Given the description of an element on the screen output the (x, y) to click on. 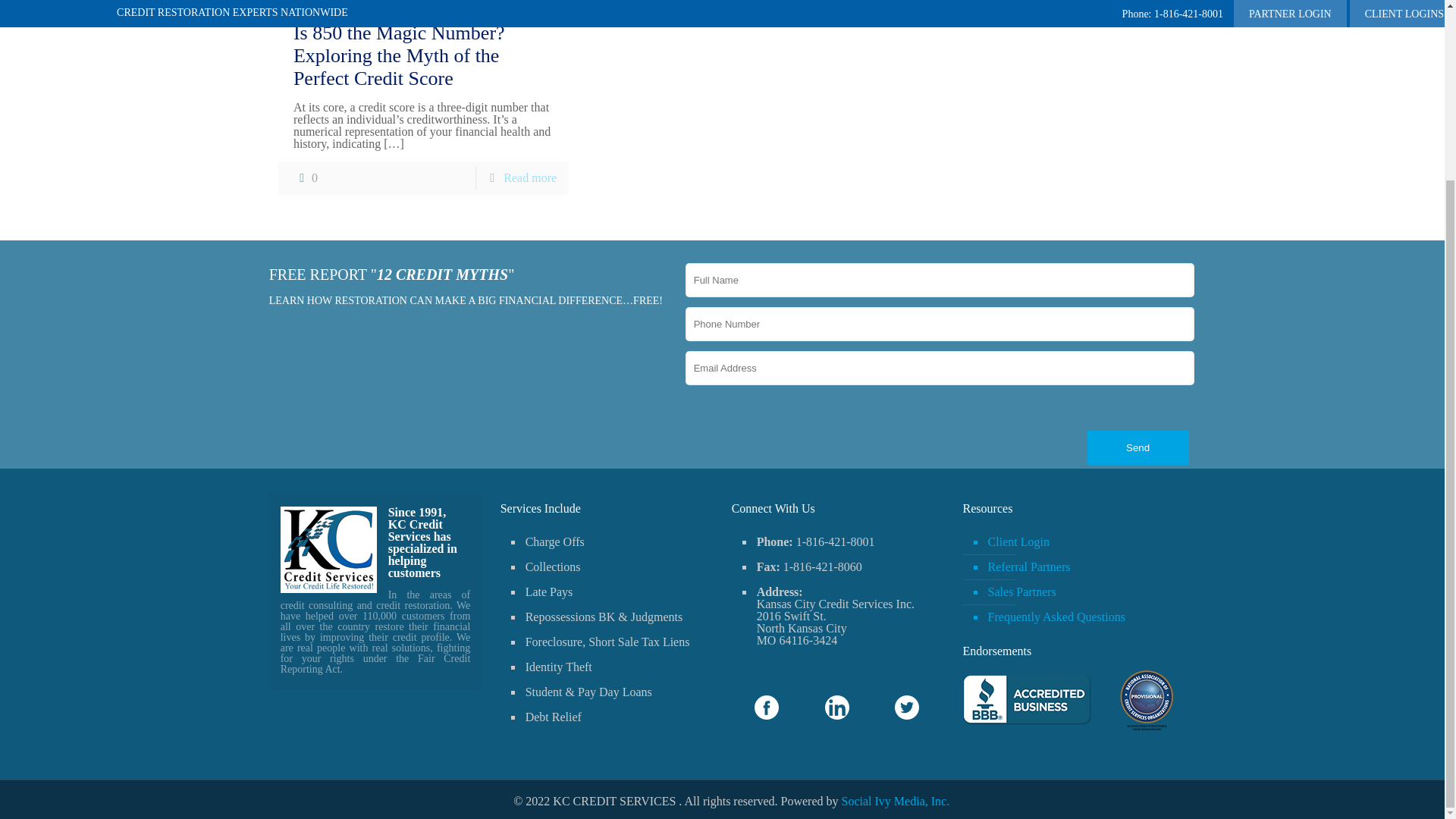
Sales Partners (1077, 592)
Send (1138, 447)
Send (1138, 447)
Social Ivy Media, Inc. (895, 800)
Client Login (1077, 542)
Read more (529, 177)
Referral Partners (1077, 567)
Frequently Asked Questions (1077, 617)
0 (305, 178)
